Given the description of an element on the screen output the (x, y) to click on. 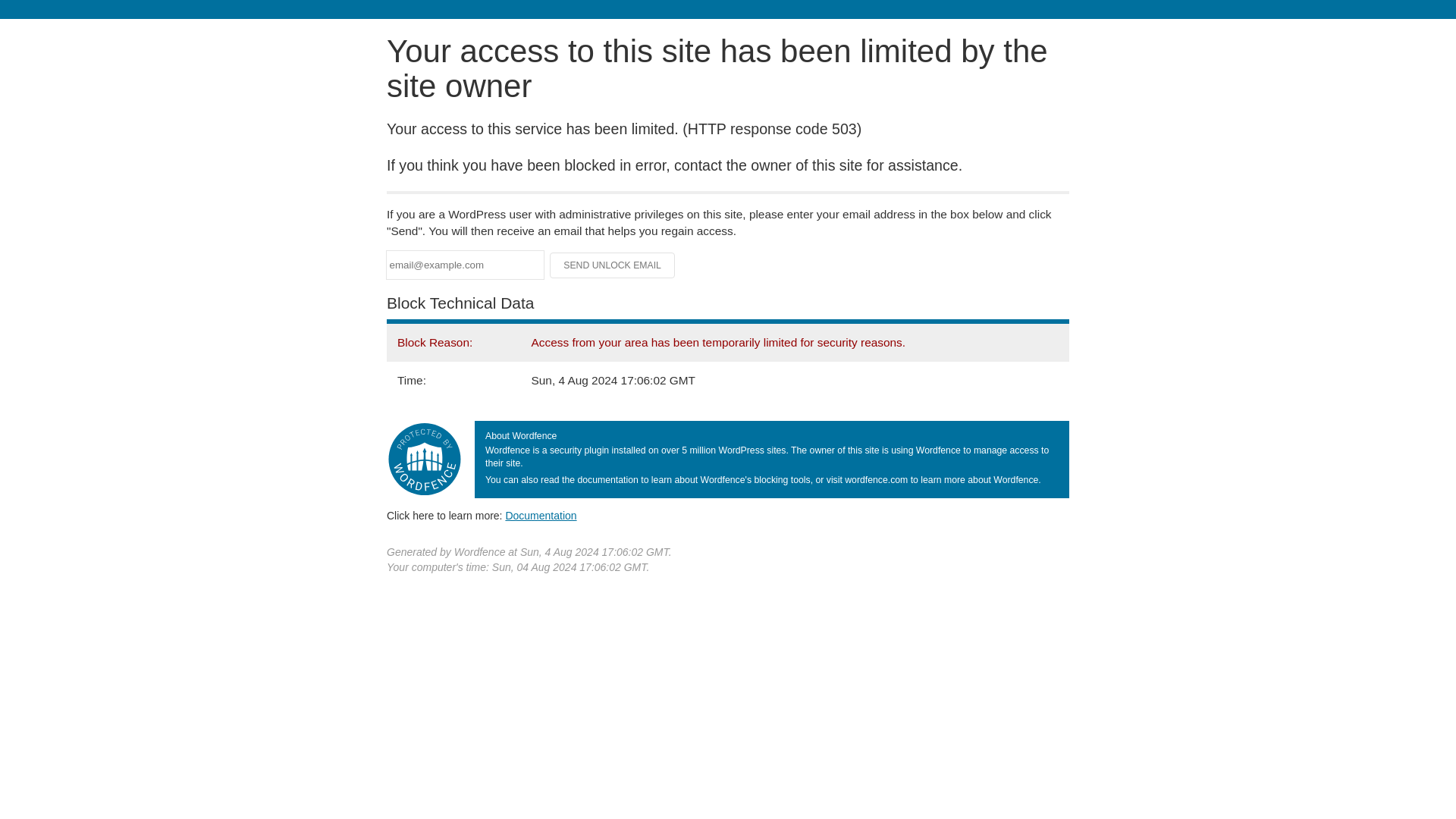
Documentation (540, 515)
Send Unlock Email (612, 265)
Send Unlock Email (612, 265)
